Given the description of an element on the screen output the (x, y) to click on. 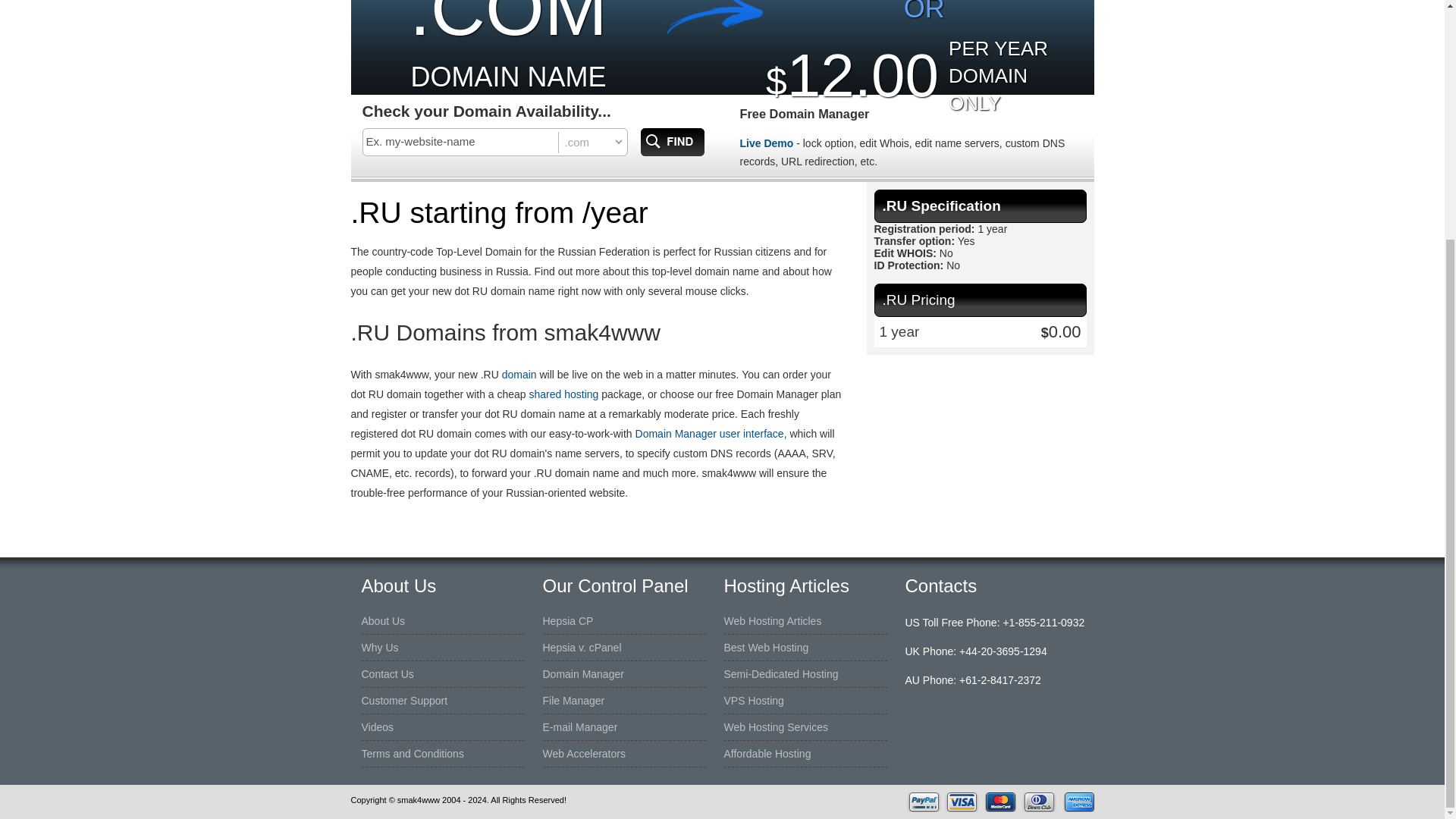
Terms and Conditions (412, 753)
Hepsia CP (568, 620)
Customer Support (403, 700)
Why Us (379, 647)
text (461, 141)
shared hosting (563, 394)
Live Demo (766, 143)
About Us (382, 620)
domain (519, 374)
Domain Manager user interface (709, 433)
